Given the description of an element on the screen output the (x, y) to click on. 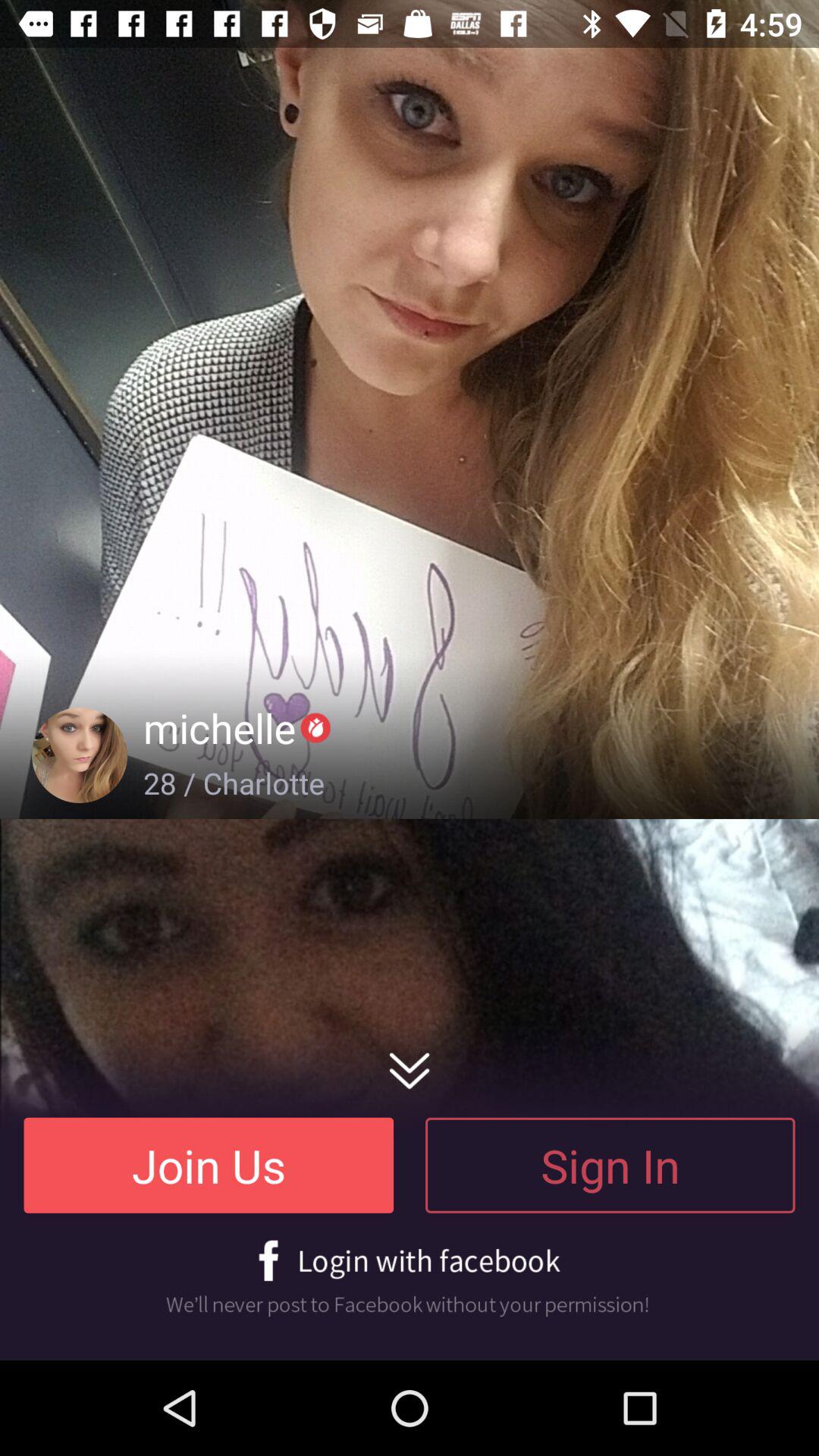
flip to the join us (208, 1165)
